Given the description of an element on the screen output the (x, y) to click on. 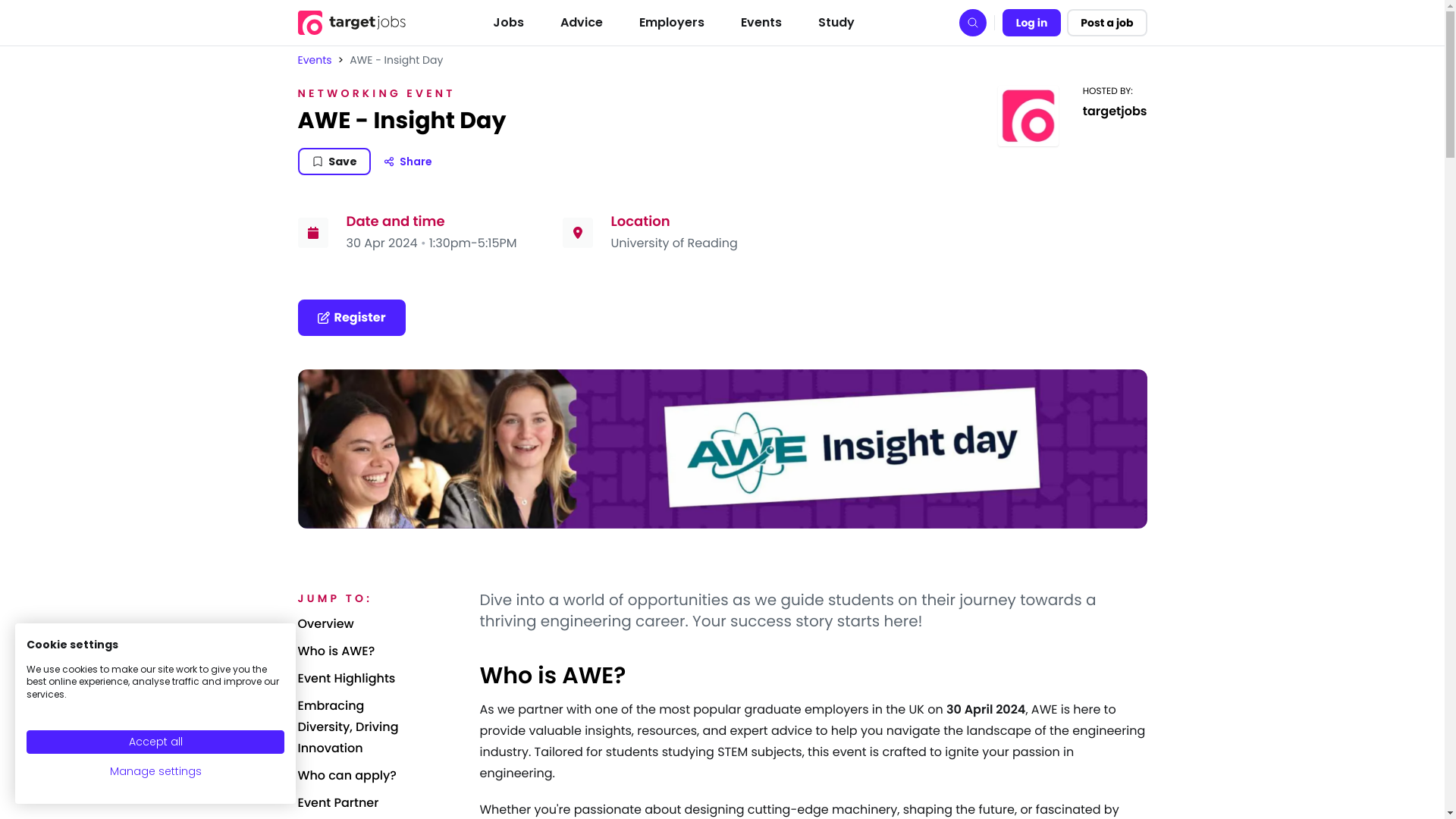
Advice (581, 22)
Jobs (507, 22)
